Given the description of an element on the screen output the (x, y) to click on. 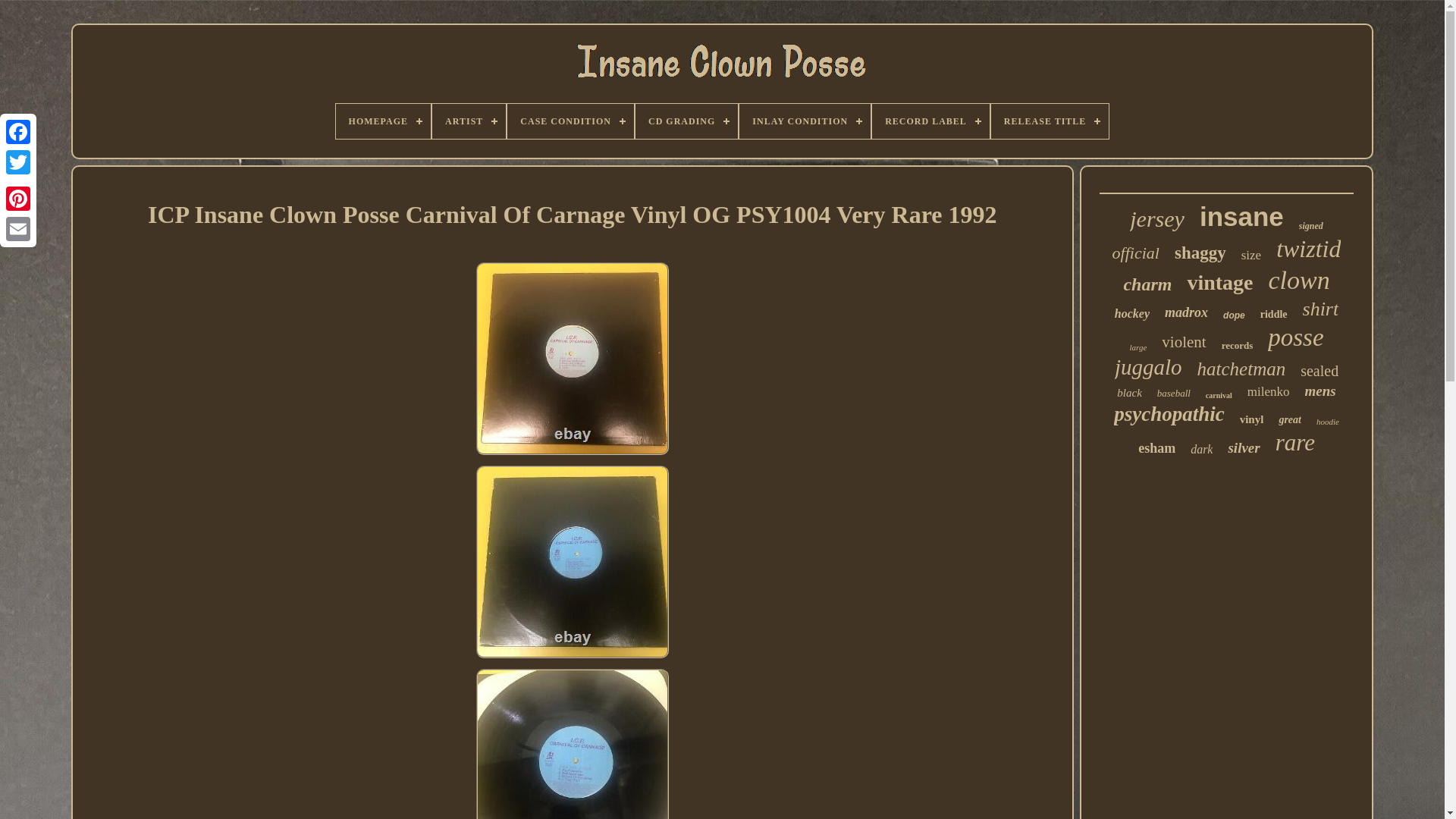
CASE CONDITION (569, 121)
RECORD LABEL (931, 121)
INLAY CONDITION (804, 121)
HOMEPAGE (383, 121)
CD GRADING (686, 121)
ARTIST (468, 121)
